Given the description of an element on the screen output the (x, y) to click on. 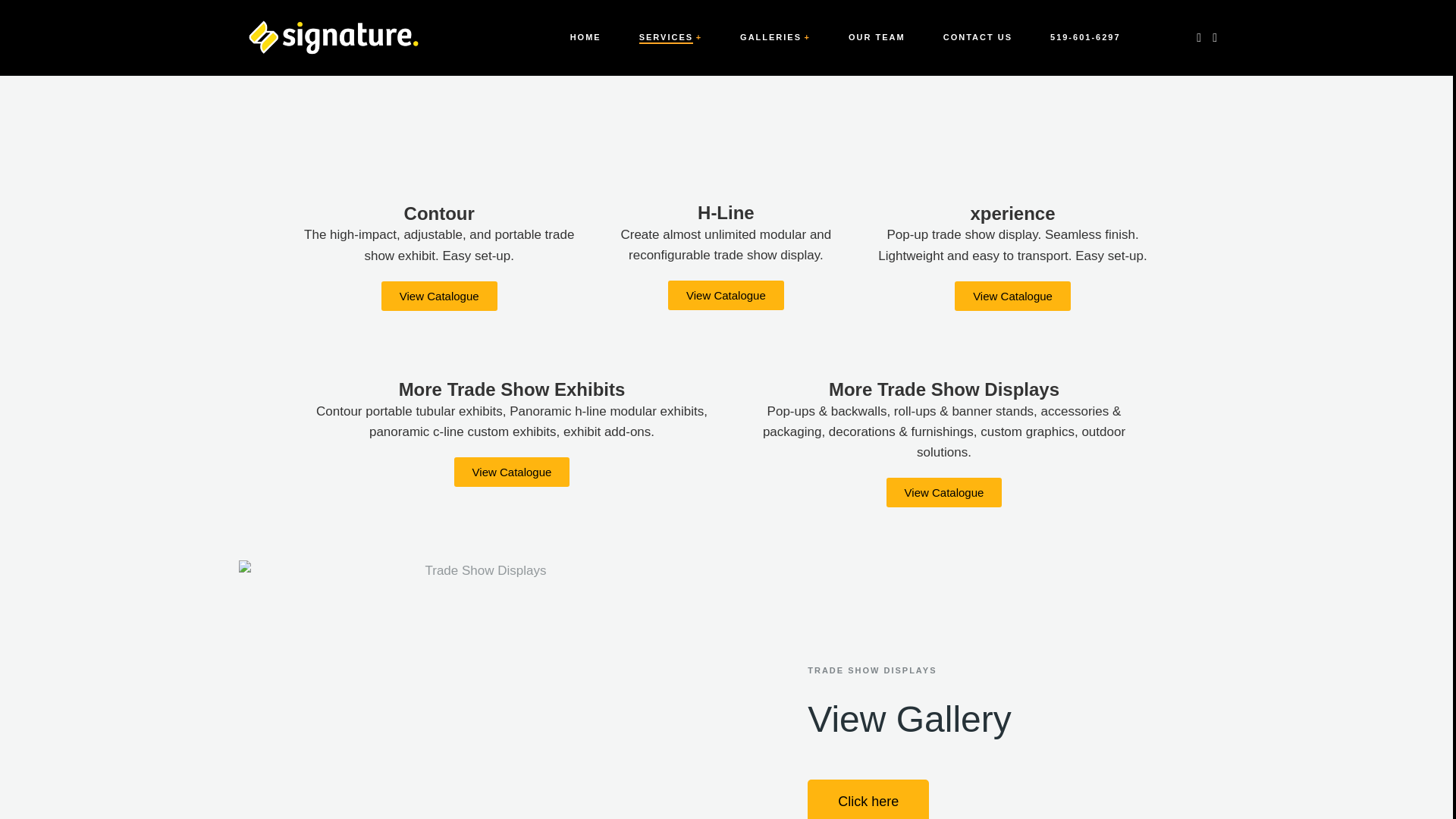
Trade Show Displays (479, 689)
Trade Show Displays (725, 93)
View Catalogue (944, 491)
Click here (868, 799)
Trade Show Displays (438, 93)
Trade Show Displays (1012, 93)
View Catalogue (439, 296)
View Catalogue (1012, 296)
xperience (1013, 214)
View Catalogue (512, 471)
